Given the description of an element on the screen output the (x, y) to click on. 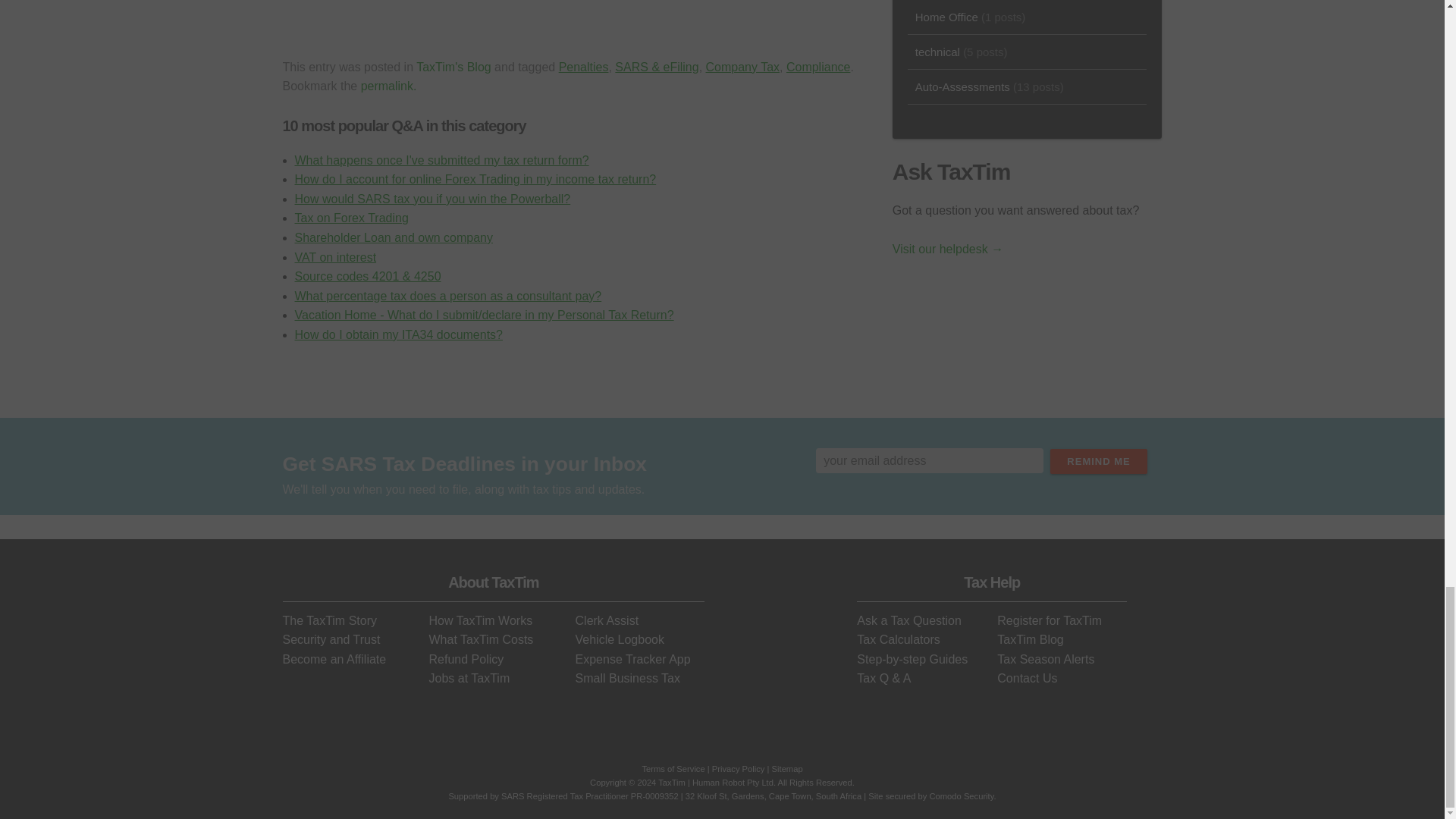
Bookmark to  (388, 85)
View all posts in TaxTim's Blog (453, 66)
Remind me (1098, 461)
